Given the description of an element on the screen output the (x, y) to click on. 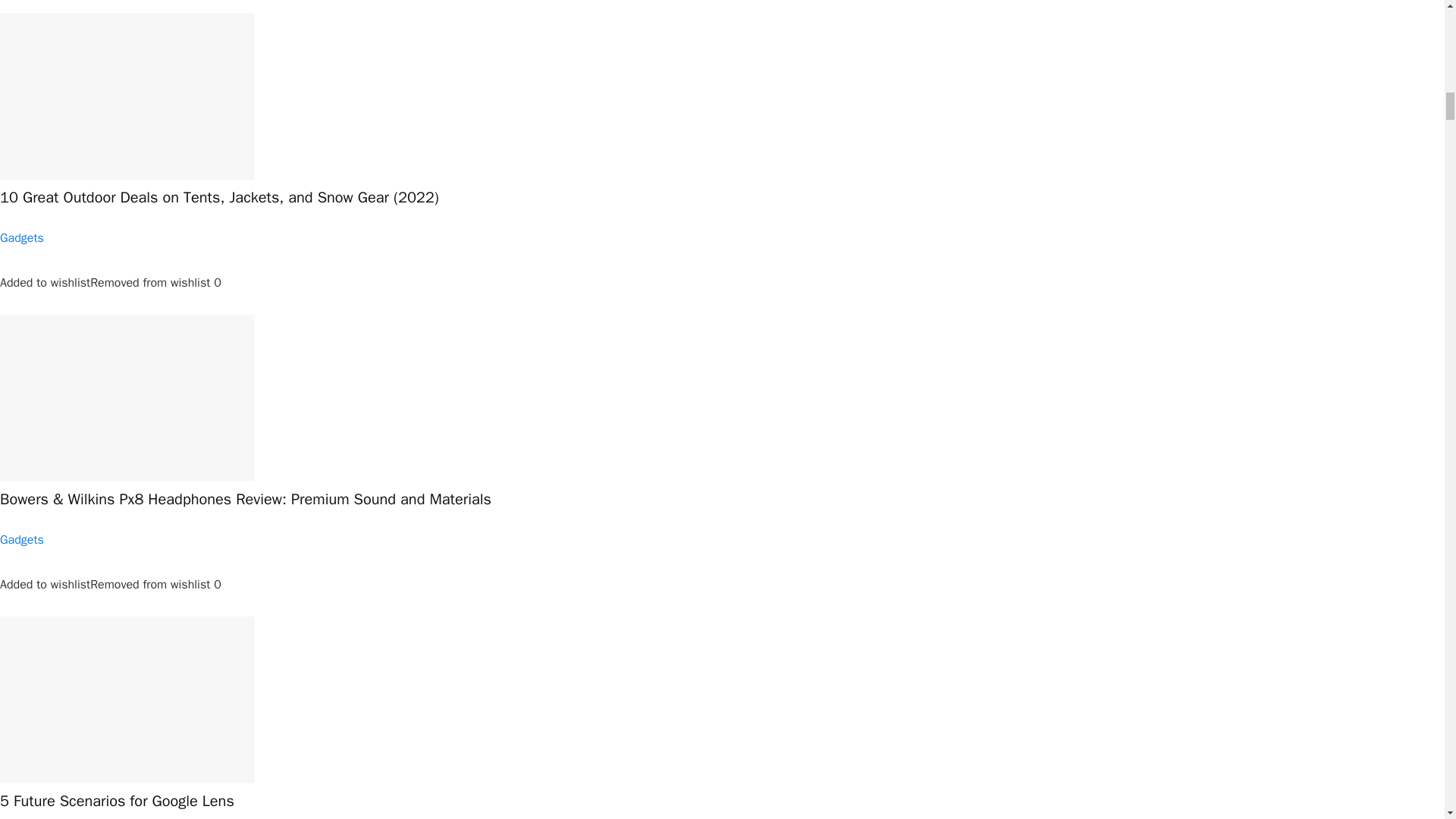
5 Future Scenarios for Google Lens (117, 800)
Gadgets (21, 237)
Gadgets (21, 539)
